Given the description of an element on the screen output the (x, y) to click on. 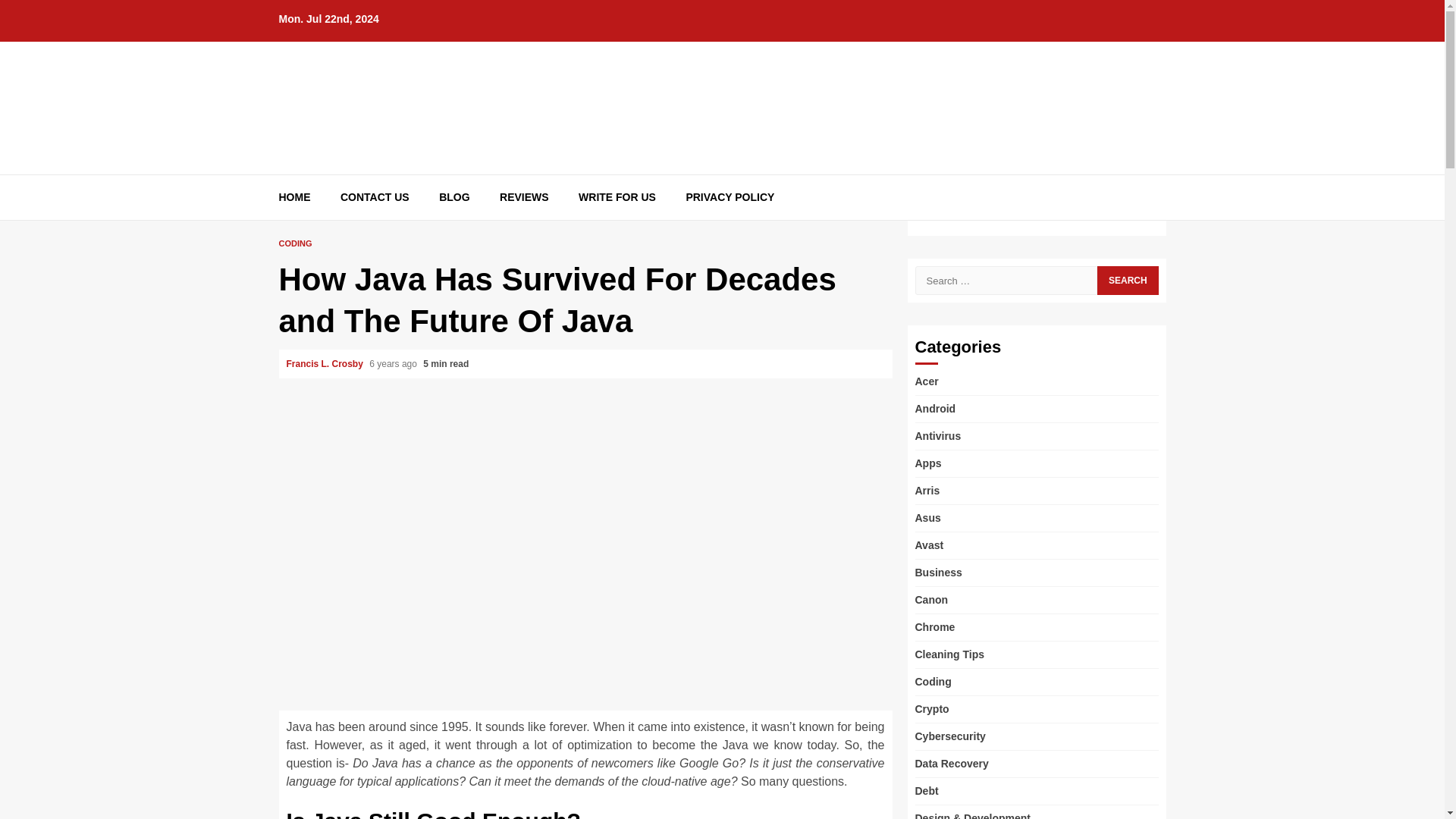
Francis L. Crosby (326, 363)
PRIVACY POLICY (729, 197)
REVIEWS (523, 197)
Search (1127, 280)
WRITE FOR US (617, 197)
BLOG (453, 197)
CONTACT US (374, 197)
Search (1126, 223)
Search (1127, 280)
HOME (295, 197)
CODING (296, 243)
